Given the description of an element on the screen output the (x, y) to click on. 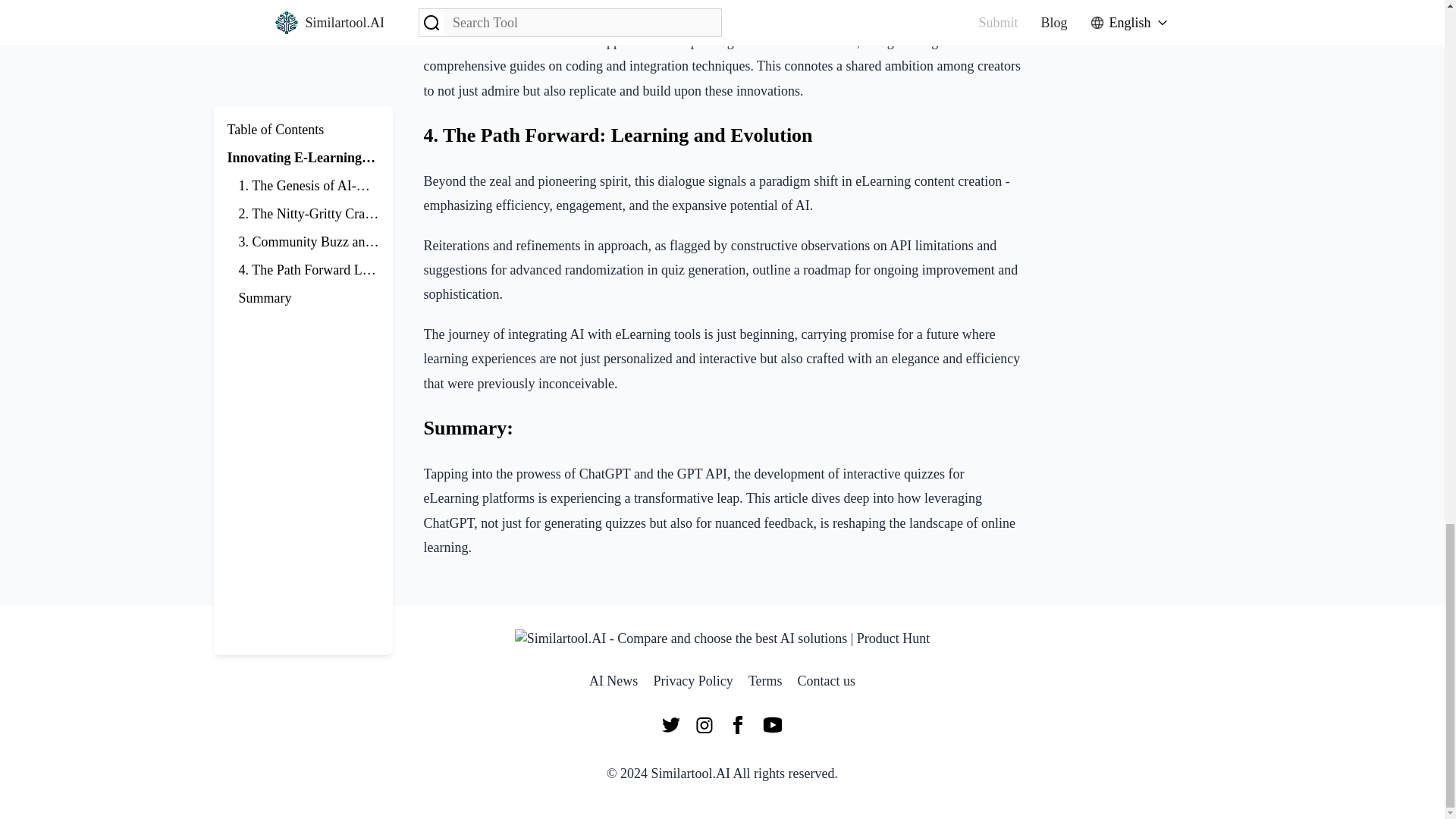
Contact us (826, 680)
AI News (614, 680)
Terms (765, 680)
Privacy Policy (692, 680)
